Given the description of an element on the screen output the (x, y) to click on. 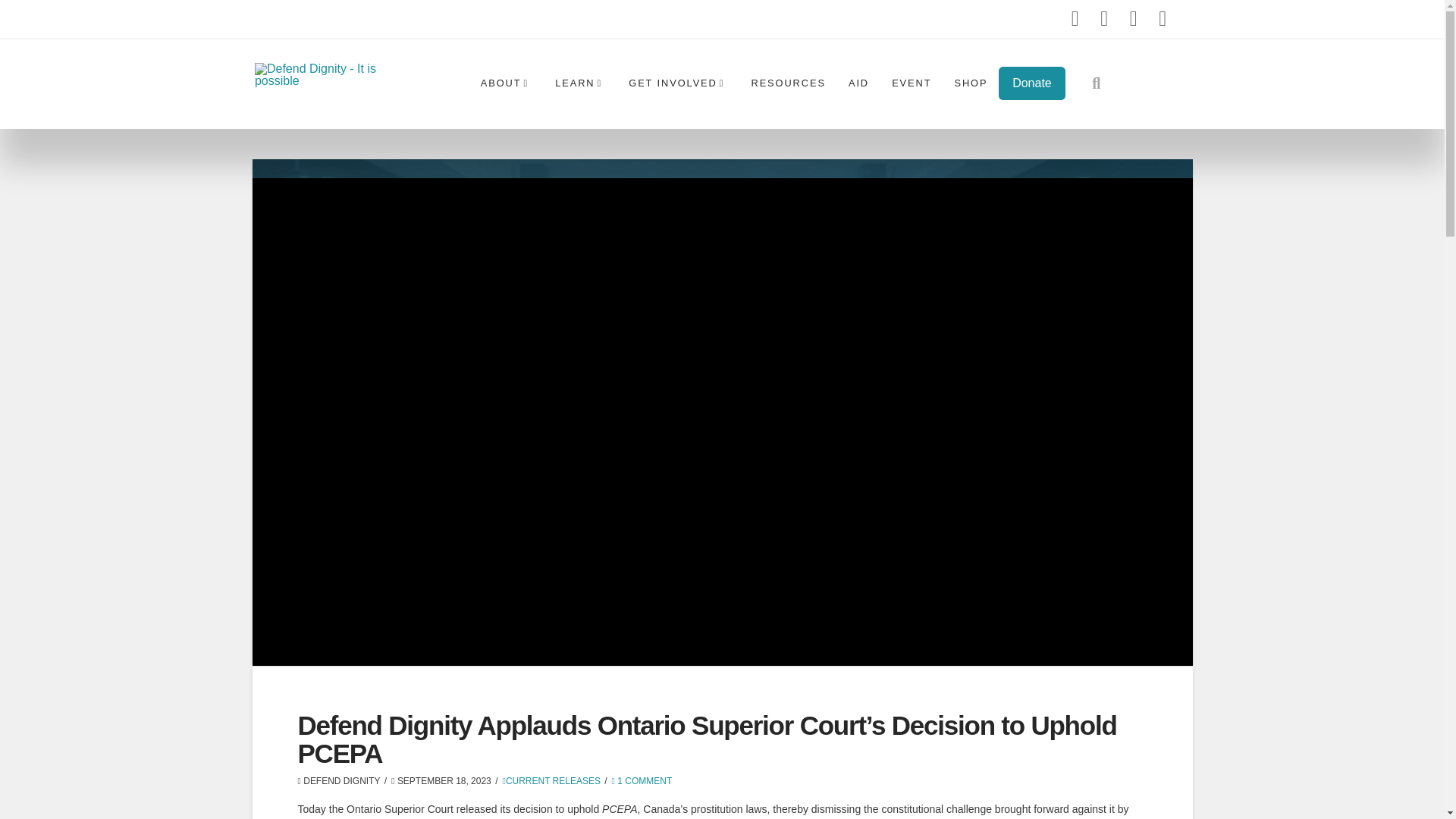
1 COMMENT (641, 779)
RESOURCES (786, 83)
LEARN (579, 83)
EVENT (910, 83)
AID (857, 83)
Donate (1031, 82)
ABOUT (505, 83)
CURRENT RELEASES (550, 779)
SHOP (969, 83)
GET INVOLVED (676, 83)
